Given the description of an element on the screen output the (x, y) to click on. 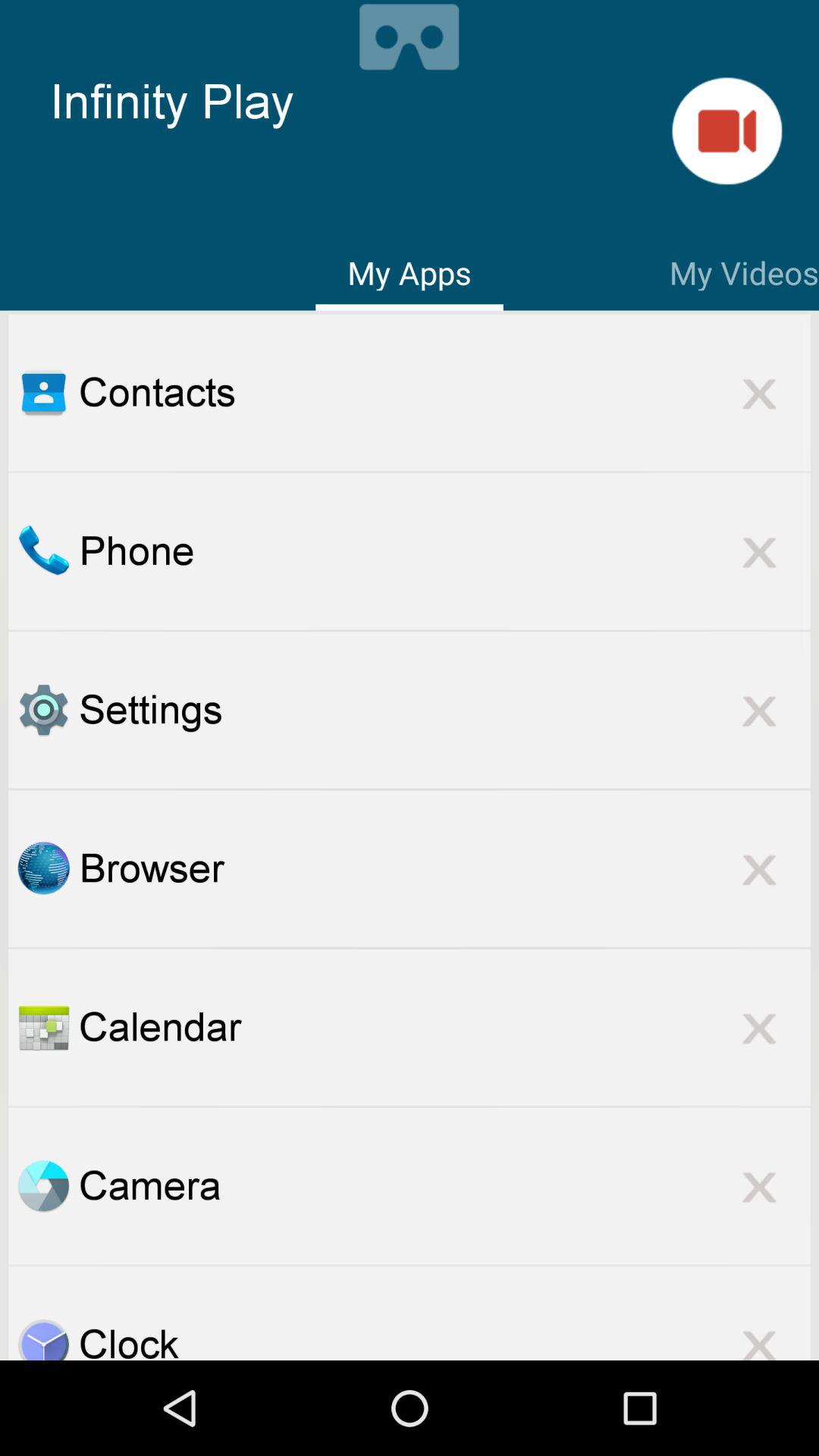
choose the clock item (444, 1338)
